Given the description of an element on the screen output the (x, y) to click on. 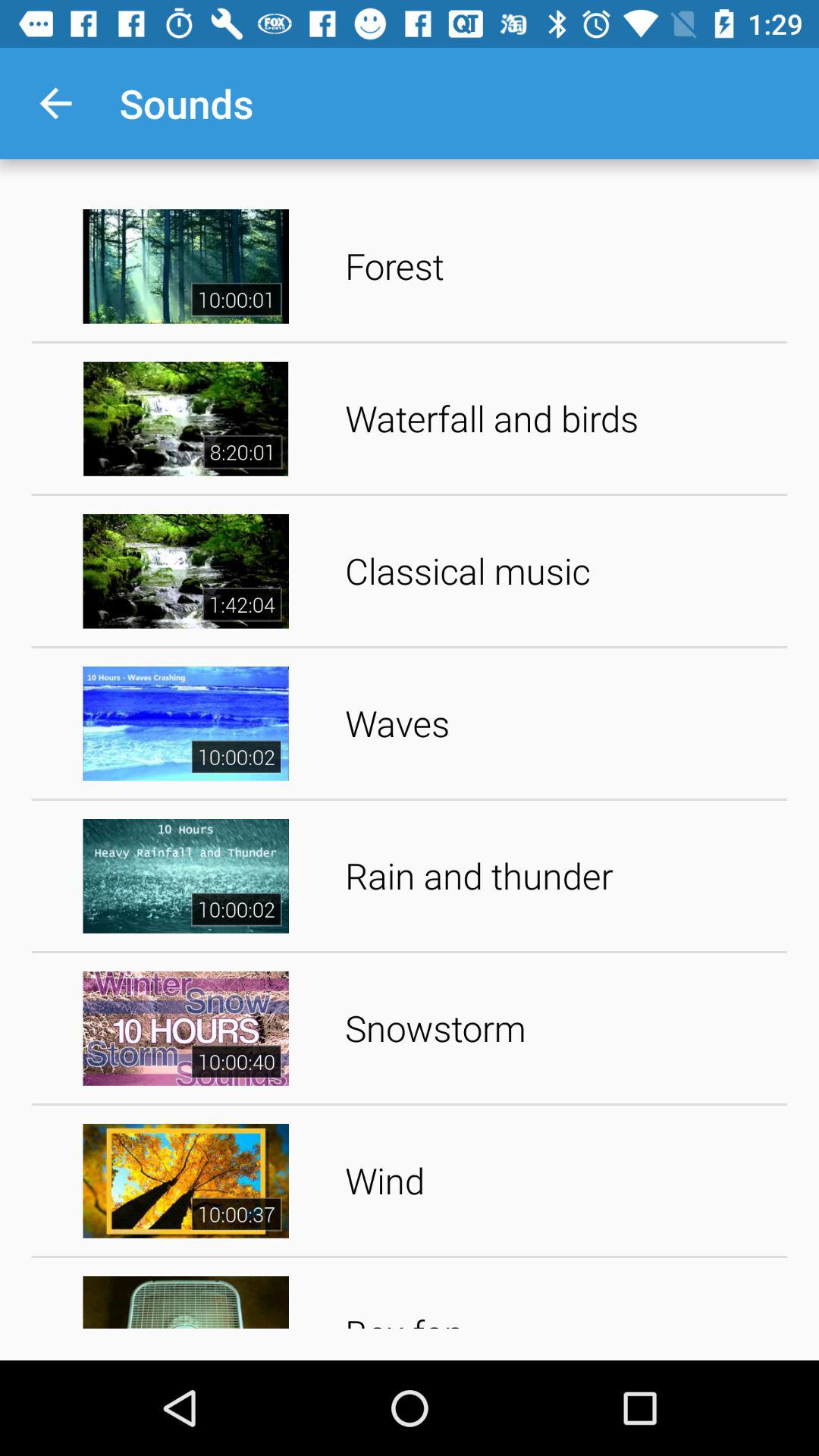
jump to the forest (560, 266)
